Given the description of an element on the screen output the (x, y) to click on. 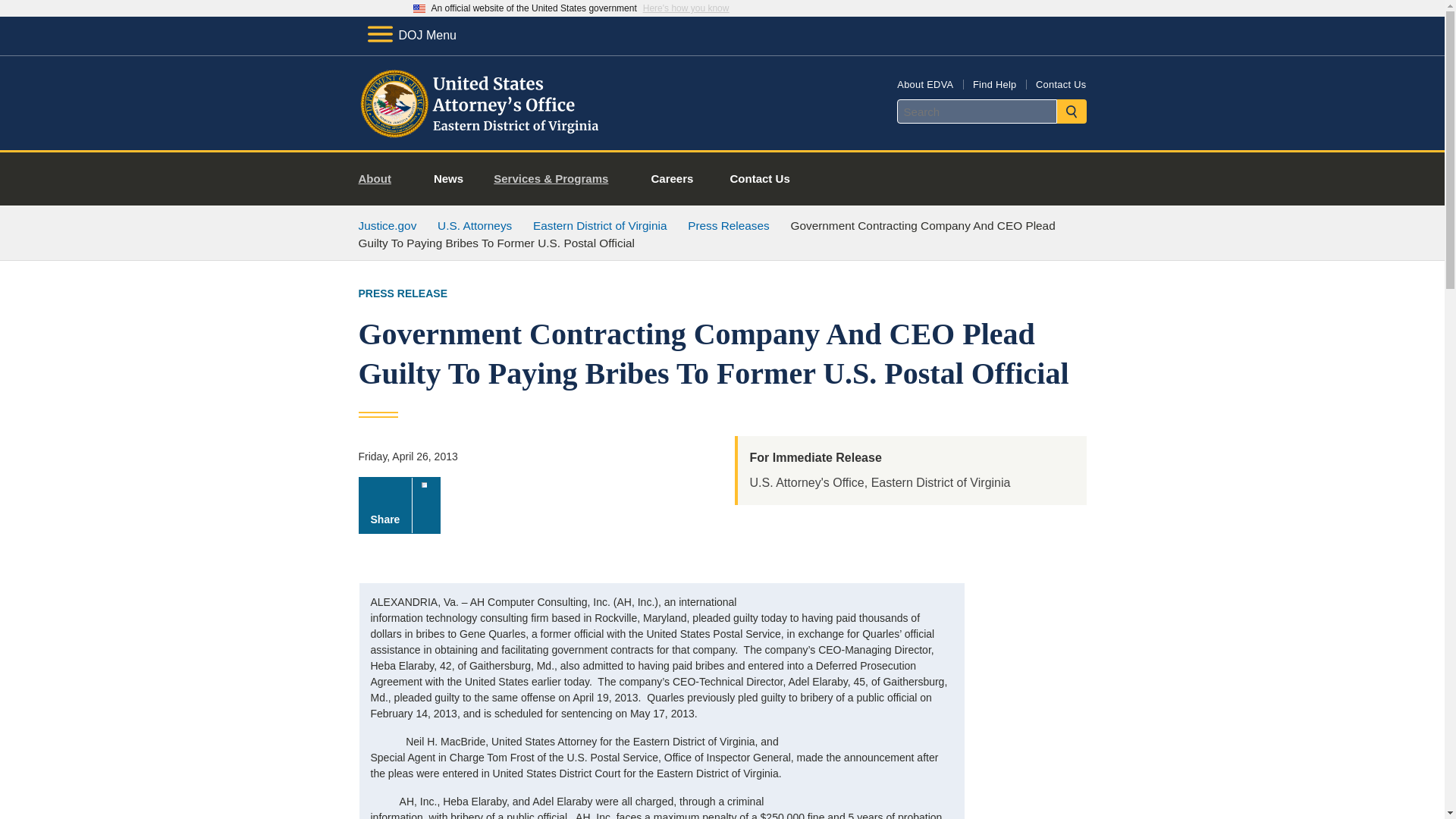
Contact Us (759, 179)
Careers (671, 179)
Find Help (994, 84)
News (447, 179)
Eastern District of Virginia (599, 225)
Share (398, 504)
Press Releases (728, 225)
About EDVA (924, 84)
Contact Us (1060, 84)
DOJ Menu (411, 35)
Justice.gov (387, 225)
U.S. Attorneys (475, 225)
Home (481, 132)
About (380, 179)
Here's how you know (686, 8)
